Given the description of an element on the screen output the (x, y) to click on. 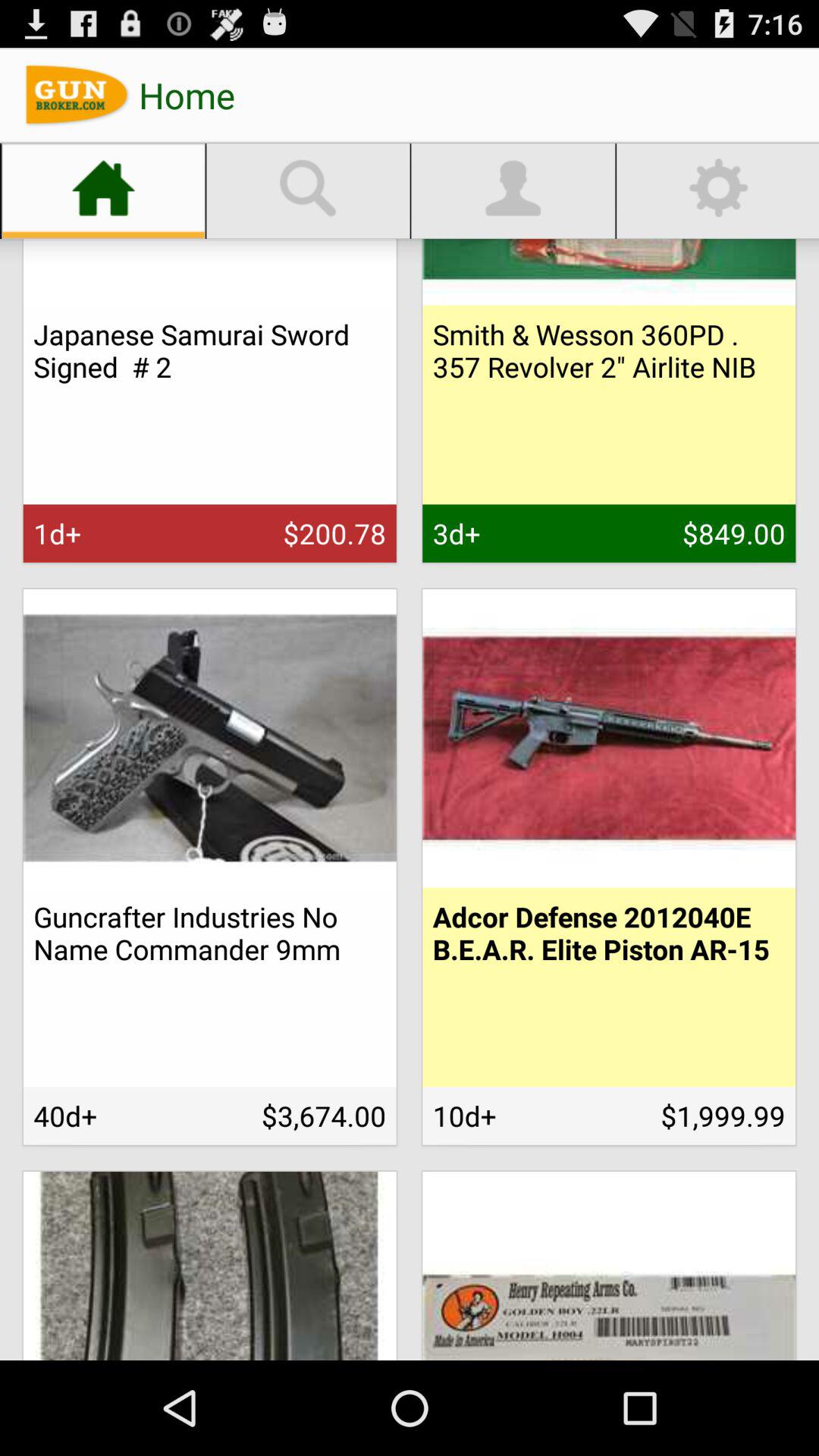
go to 2nd line 1st image (209, 738)
select the gun image below 84900 (608, 738)
